Given the description of an element on the screen output the (x, y) to click on. 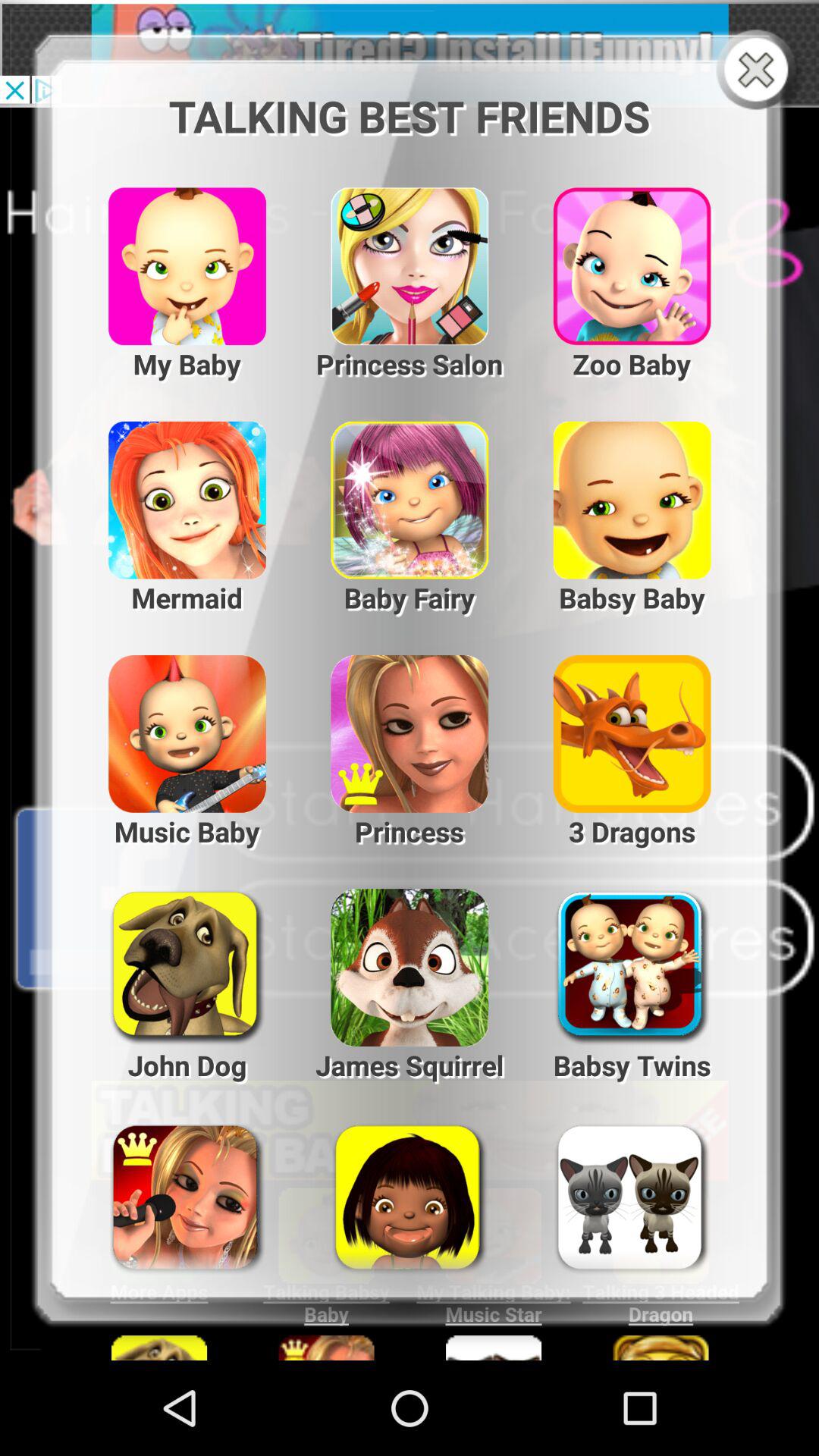
close (759, 71)
